Given the description of an element on the screen output the (x, y) to click on. 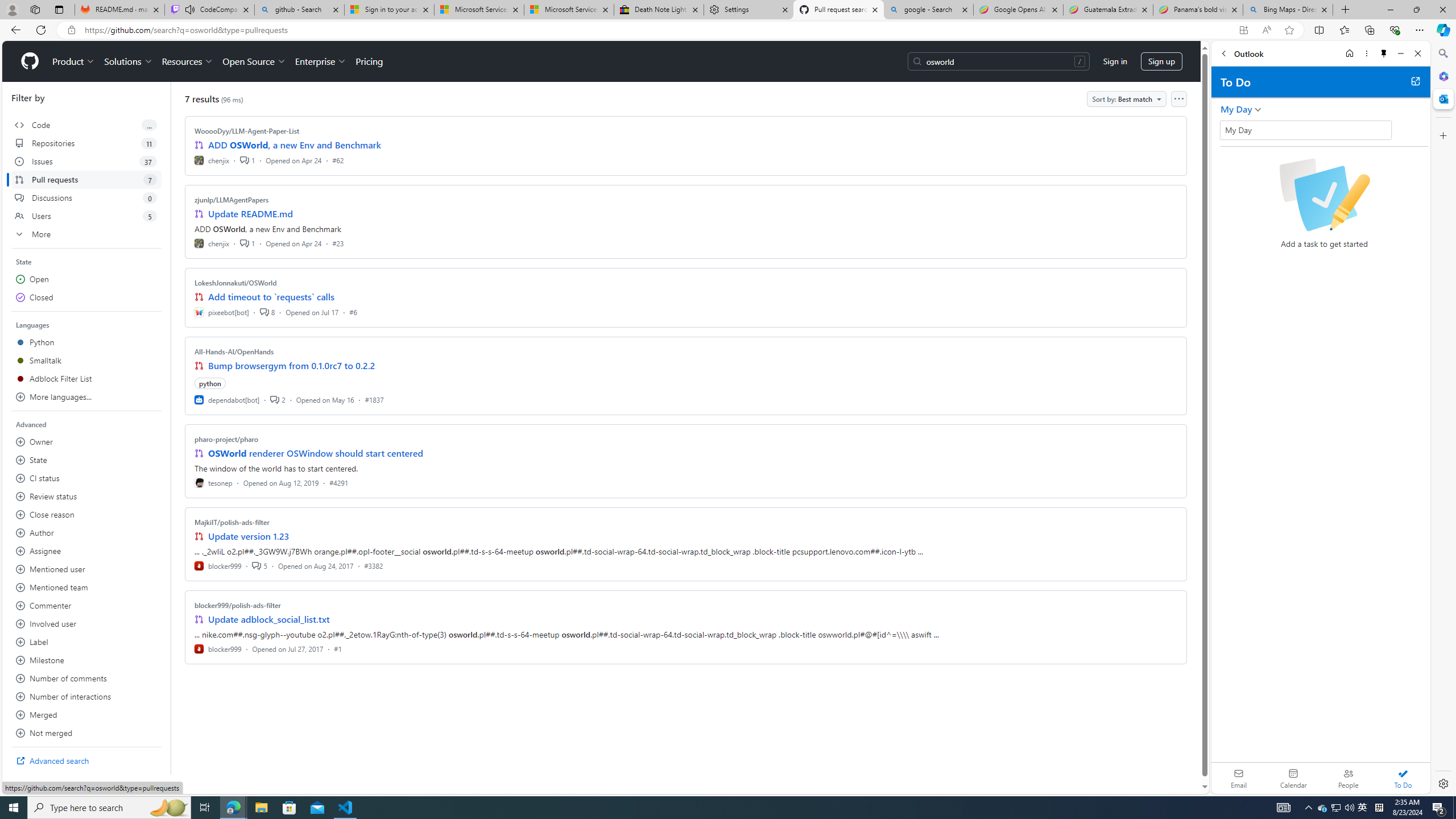
Pricing (368, 60)
Close Outlook pane (1442, 98)
pharo-project/pharo (226, 438)
zjunlp/LLMAgentPapers (232, 199)
Update adblock_social_list.txt (269, 619)
Homepage (29, 61)
